Given the description of an element on the screen output the (x, y) to click on. 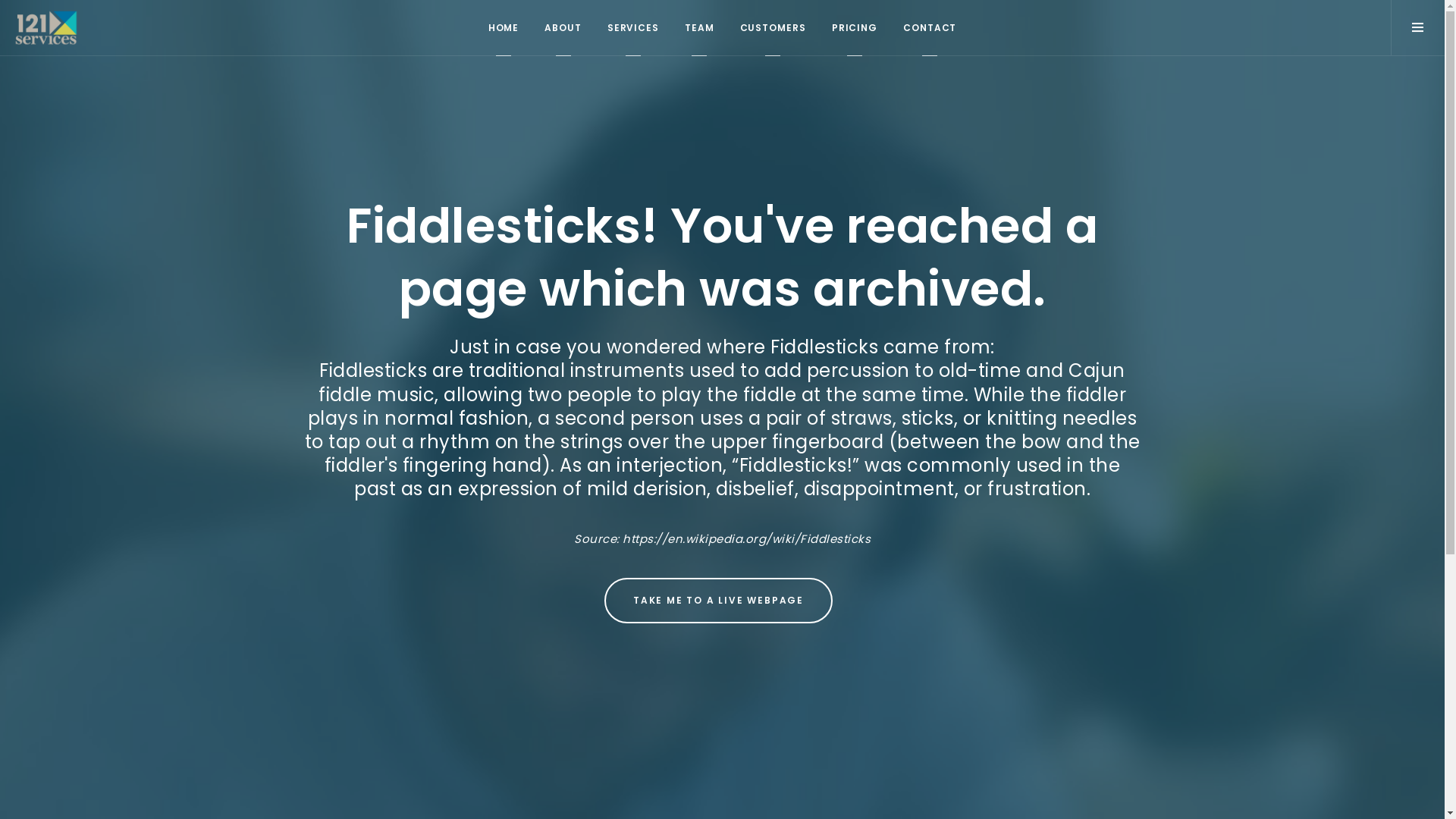
PRICING Element type: text (854, 27)
SERVICES Element type: text (633, 27)
ABOUT Element type: text (562, 27)
HOME Element type: text (503, 27)
TAKE ME TO A LIVE WEBPAGE Element type: text (718, 600)
CUSTOMERS Element type: text (772, 27)
TEAM Element type: text (699, 27)
CONTACT Element type: text (929, 27)
